Given the description of an element on the screen output the (x, y) to click on. 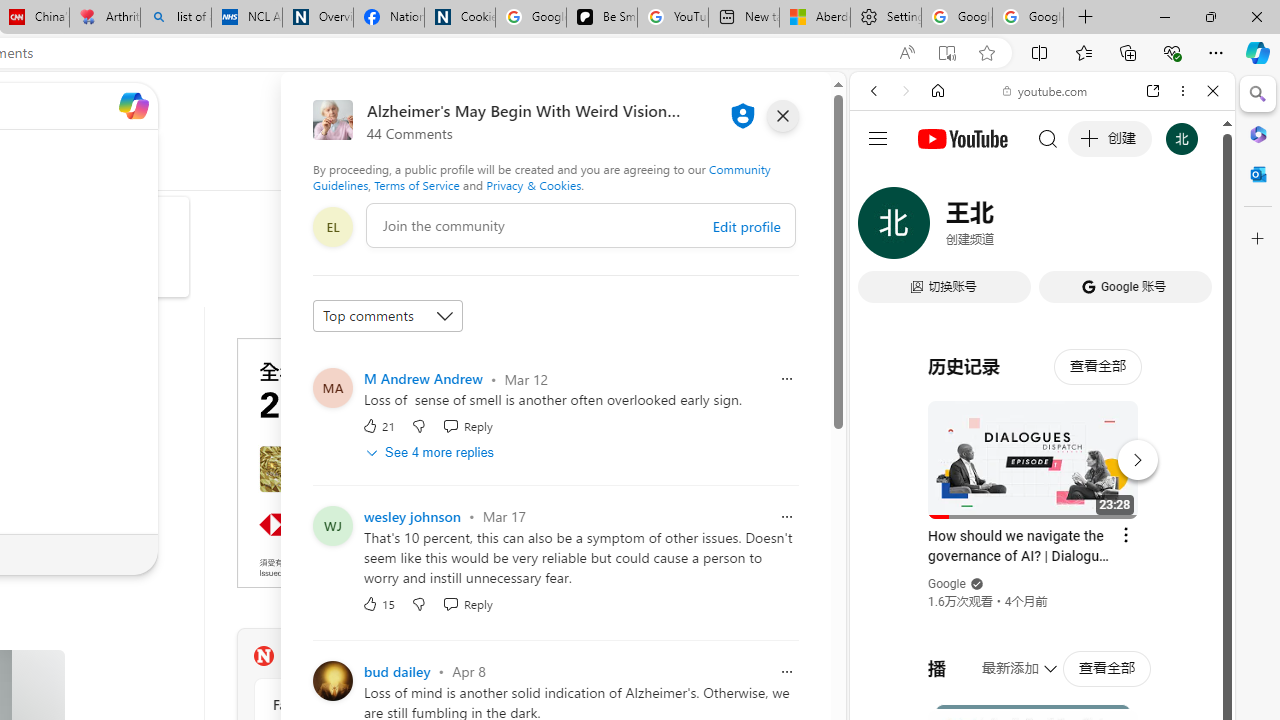
Show More Music (1164, 546)
#you (1042, 445)
Report comment (786, 671)
Class: b_serphb (1190, 229)
Profile Picture (333, 680)
Sort comments by (388, 315)
See 4 more replies (431, 452)
